Given the description of an element on the screen output the (x, y) to click on. 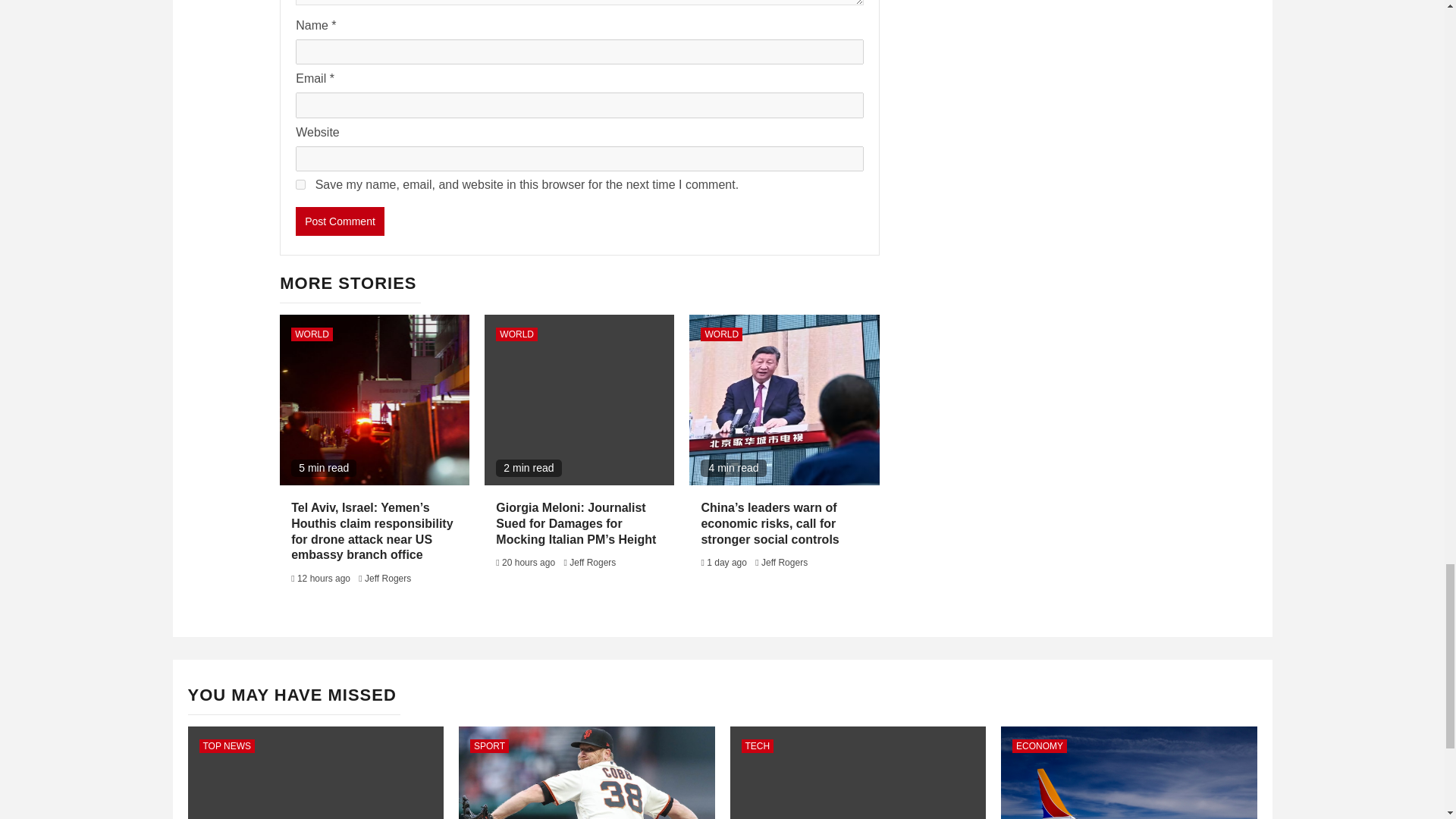
Jeff Rogers (784, 562)
yes (300, 184)
WORLD (516, 334)
Jeff Rogers (592, 562)
WORLD (721, 334)
Jeff Rogers (387, 578)
Post Comment (339, 221)
WORLD (312, 334)
Post Comment (339, 221)
